Given the description of an element on the screen output the (x, y) to click on. 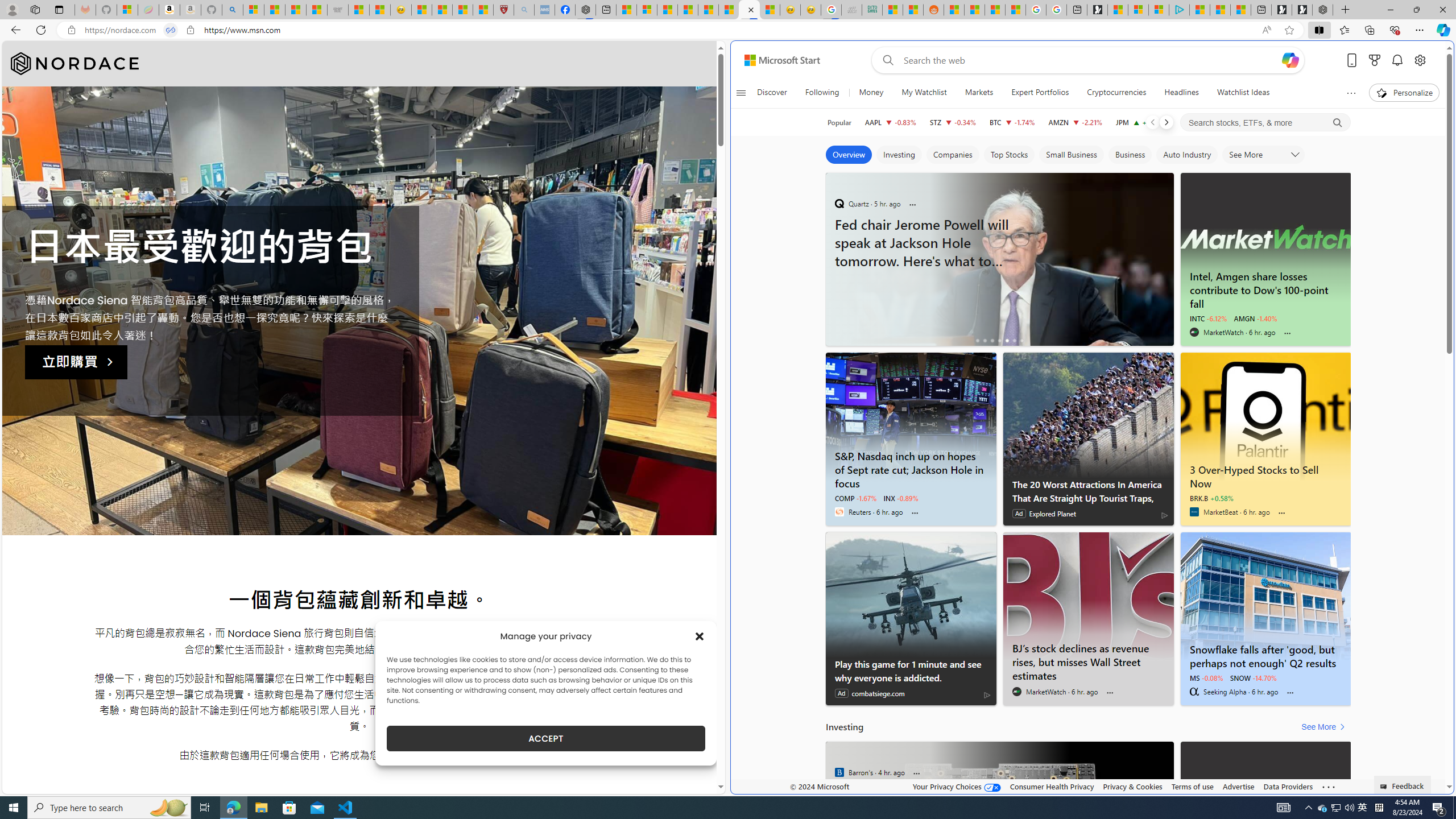
Top Stocks (1008, 154)
Watchlist Ideas (1243, 92)
Headlines (1181, 92)
